Given the description of an element on the screen output the (x, y) to click on. 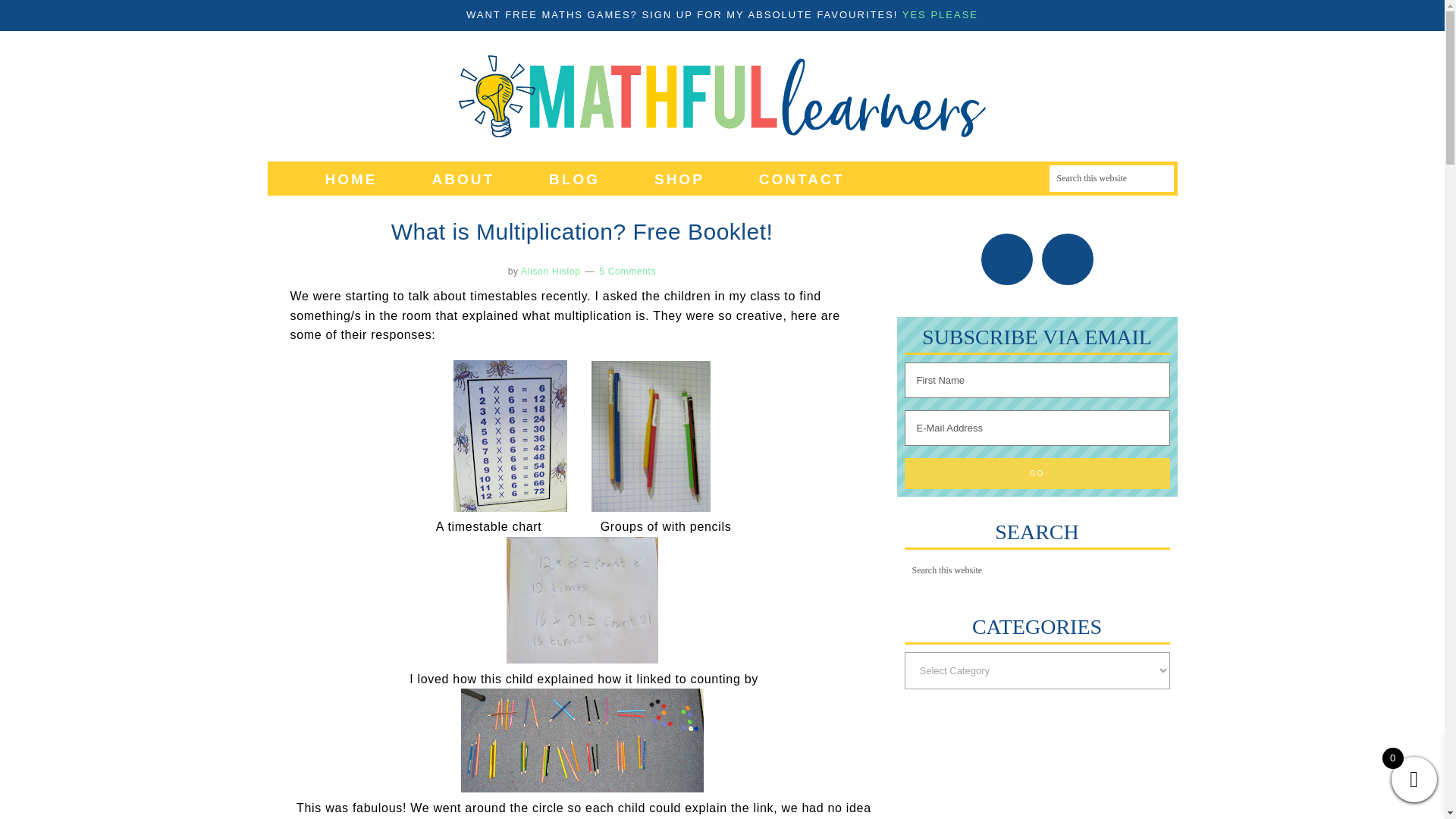
MATHFUL LEARNERS (721, 95)
HOME (350, 177)
5 Comments (627, 271)
Alison Hislop (550, 271)
CONTACT (801, 177)
BLOG (574, 177)
Go (1036, 472)
ABOUT (463, 177)
SHOP (679, 177)
YES PLEASE (940, 14)
